Given the description of an element on the screen output the (x, y) to click on. 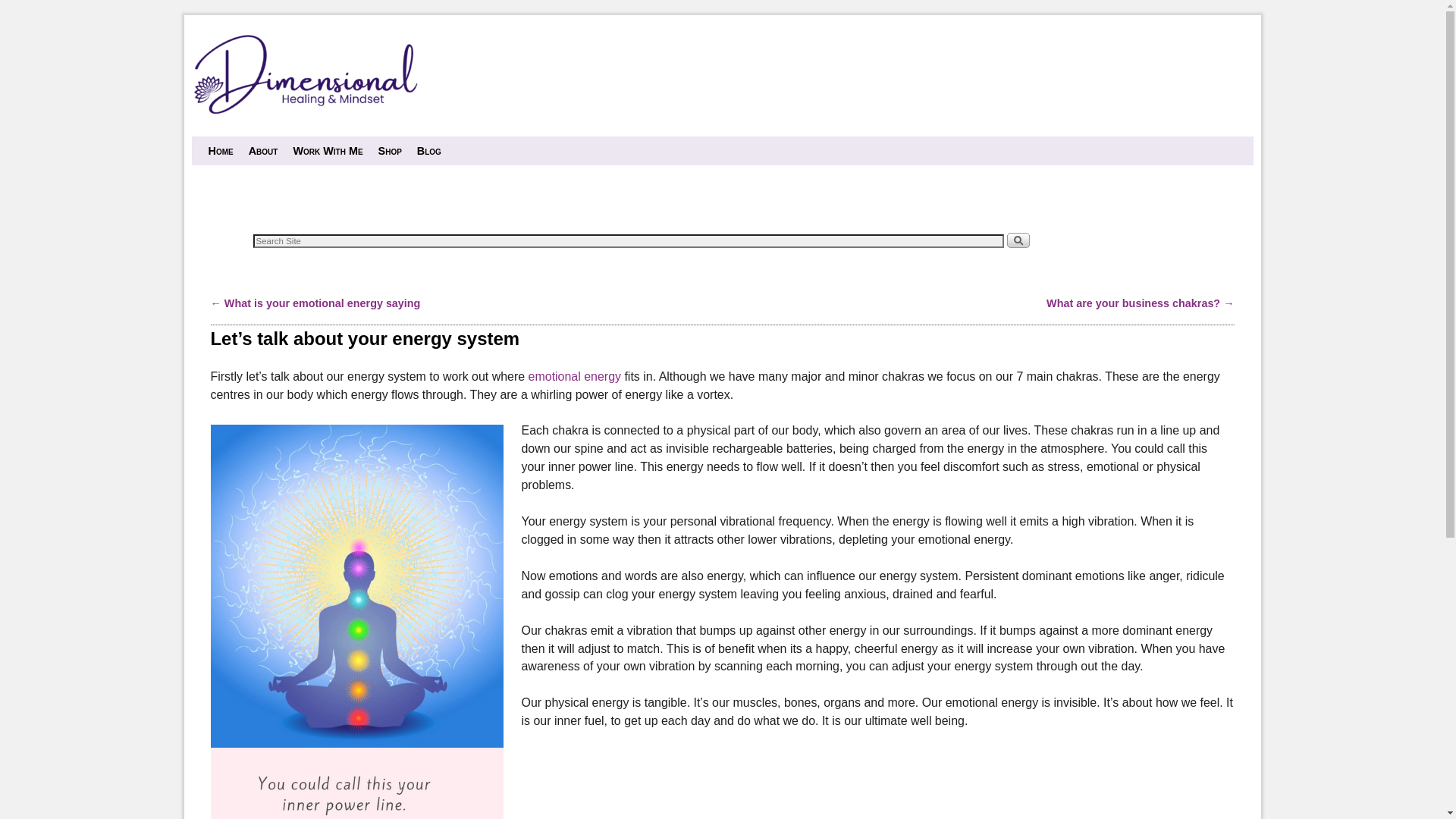
Skip to secondary content Element type: text (243, 143)
Shop Element type: text (389, 150)
Blog Element type: text (428, 150)
Home Element type: text (220, 150)
About Element type: text (263, 150)
Skip to primary content Element type: text (237, 143)
emotional energy Element type: text (574, 376)
Work With Me Element type: text (327, 150)
